Given the description of an element on the screen output the (x, y) to click on. 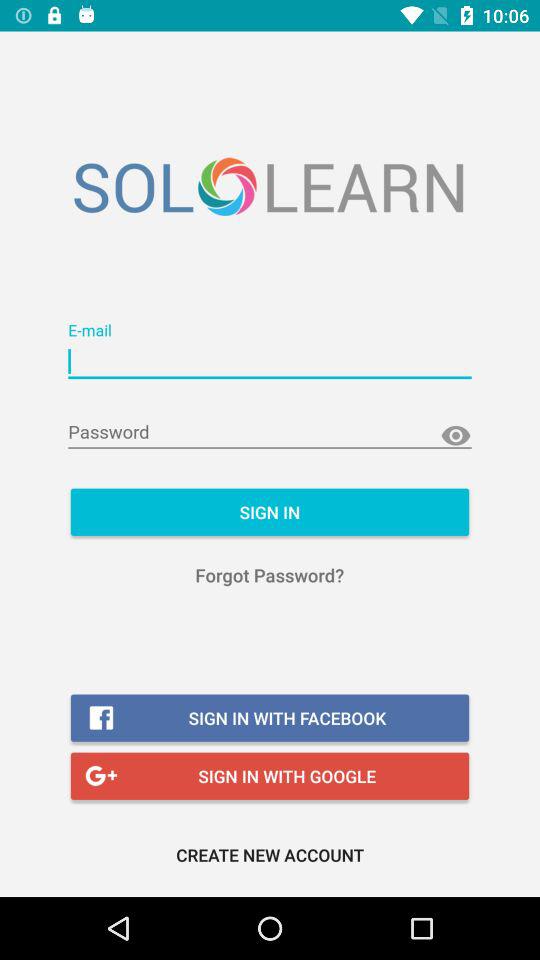
input email address (270, 362)
